Given the description of an element on the screen output the (x, y) to click on. 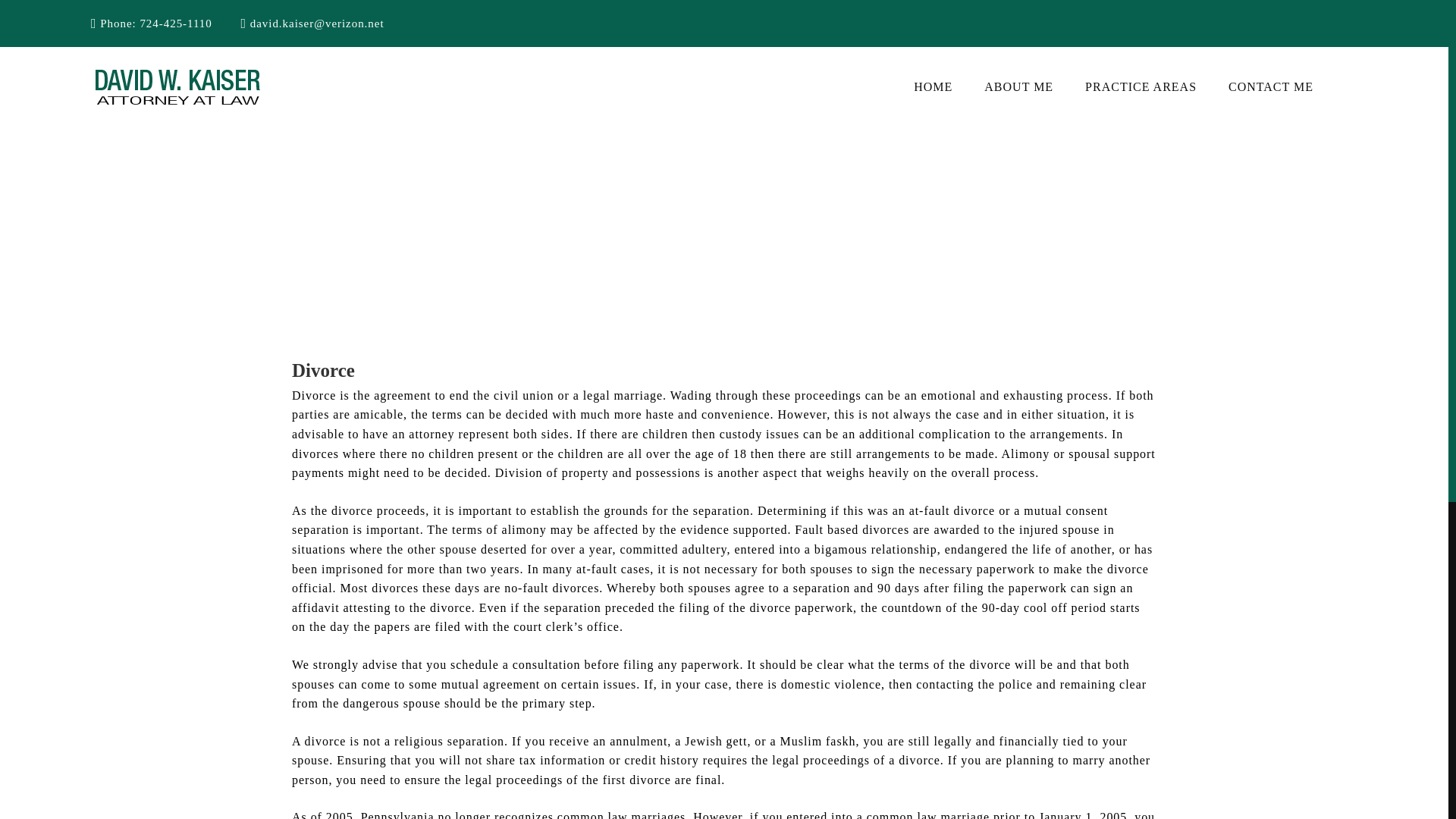
ABOUT ME (1018, 86)
Search (37, 17)
PRACTICE AREAS (1140, 86)
